Given the description of an element on the screen output the (x, y) to click on. 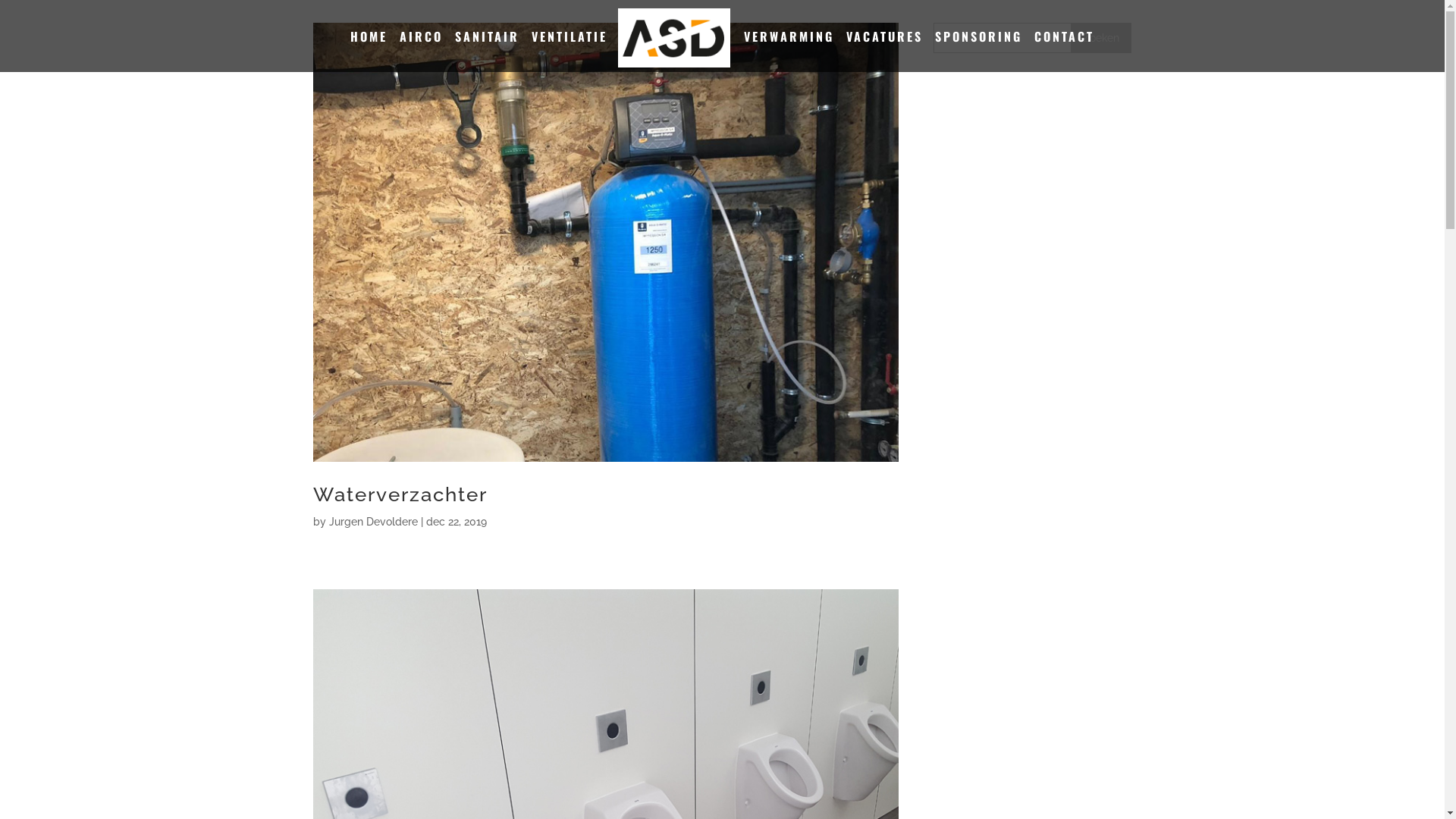
SANITAIR Element type: text (487, 51)
SPONSORING Element type: text (978, 51)
Zoeken Element type: text (1100, 37)
VERWARMING Element type: text (788, 51)
CONTACT Element type: text (1064, 51)
VENTILATIE Element type: text (569, 51)
HOME Element type: text (368, 51)
Waterverzachter Element type: text (399, 494)
AIRCO Element type: text (420, 51)
VACATURES Element type: text (884, 51)
Jurgen Devoldere Element type: text (373, 521)
